Given the description of an element on the screen output the (x, y) to click on. 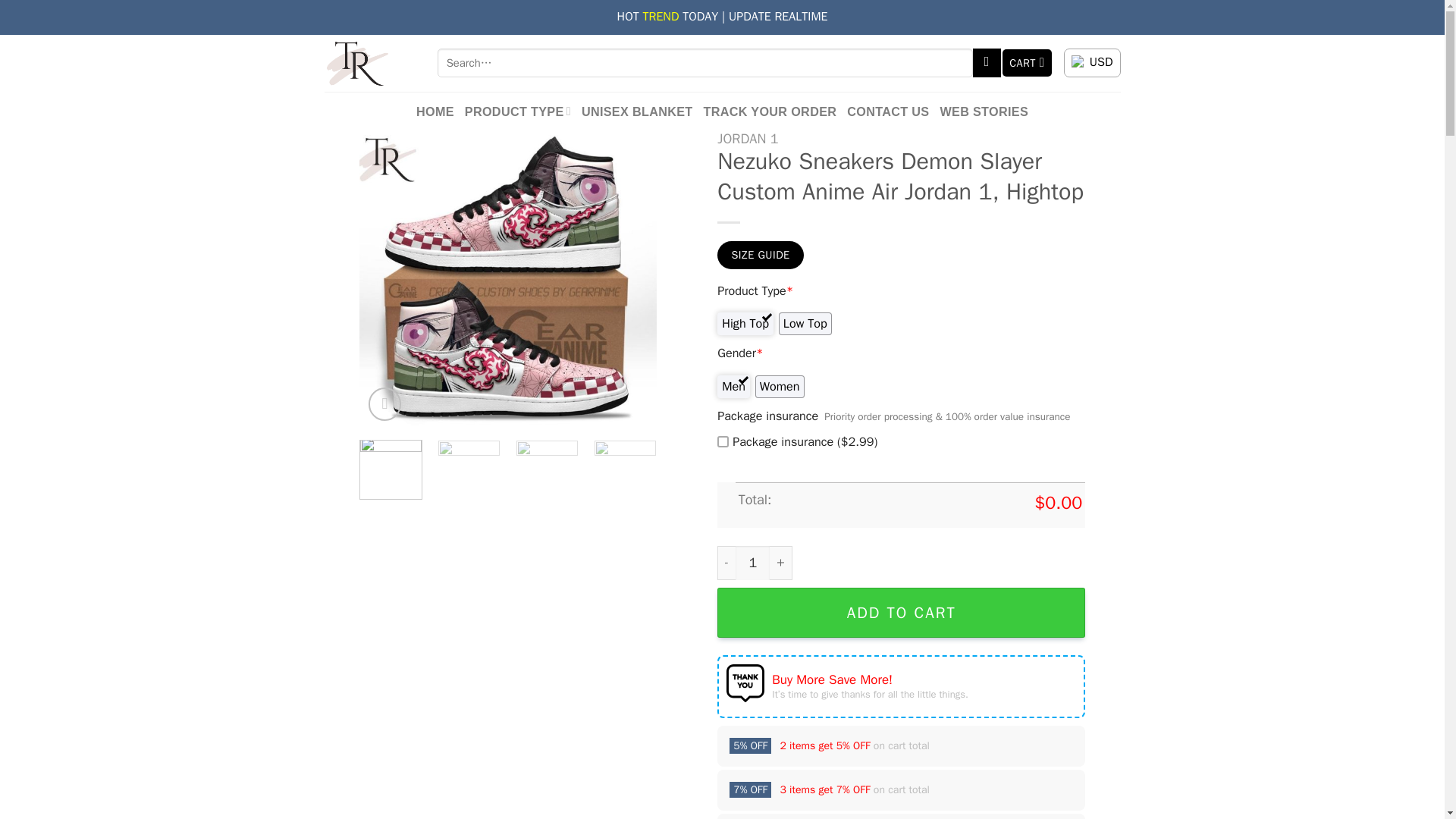
Torunstyle - New Design Added Daily (369, 63)
SIZE GUIDE (760, 254)
JORDAN 1 (747, 138)
Zoom (384, 403)
Cart (1027, 62)
TRACK YOUR ORDER (770, 111)
High Top (745, 323)
UNISEX BLANKET (636, 111)
1 (752, 562)
Search (986, 62)
WEB STORIES (983, 111)
CONTACT US (887, 111)
